Given the description of an element on the screen output the (x, y) to click on. 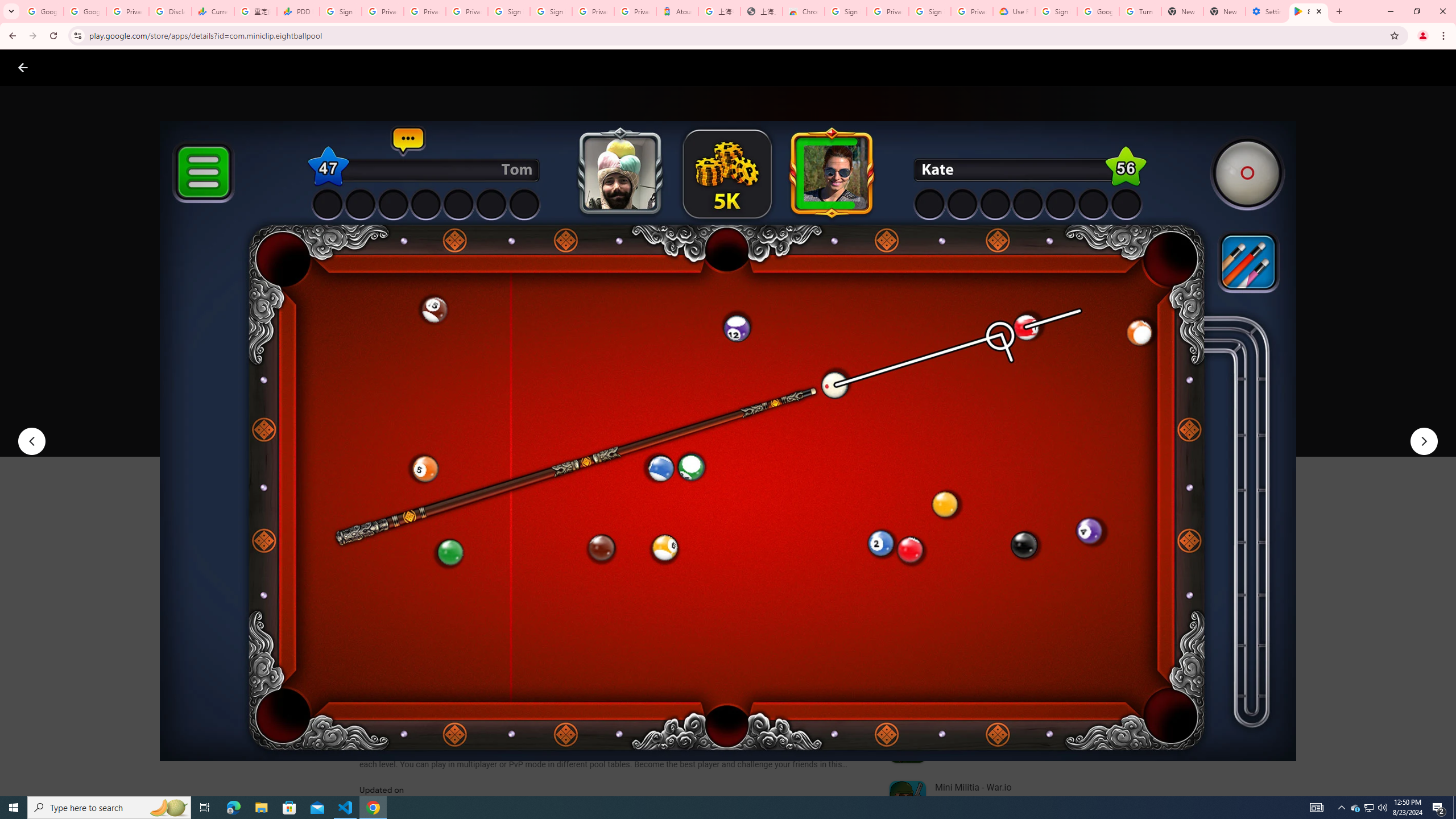
Close screenshot viewer (22, 67)
Screenshot image (817, 563)
Scroll Next (848, 563)
PDD Holdings Inc - ADR (PDD) Price & News - Google Finance (298, 11)
See more information on About this game (472, 681)
Previous (31, 441)
Apps (182, 67)
Google Account Help (1097, 11)
Install (416, 423)
